Given the description of an element on the screen output the (x, y) to click on. 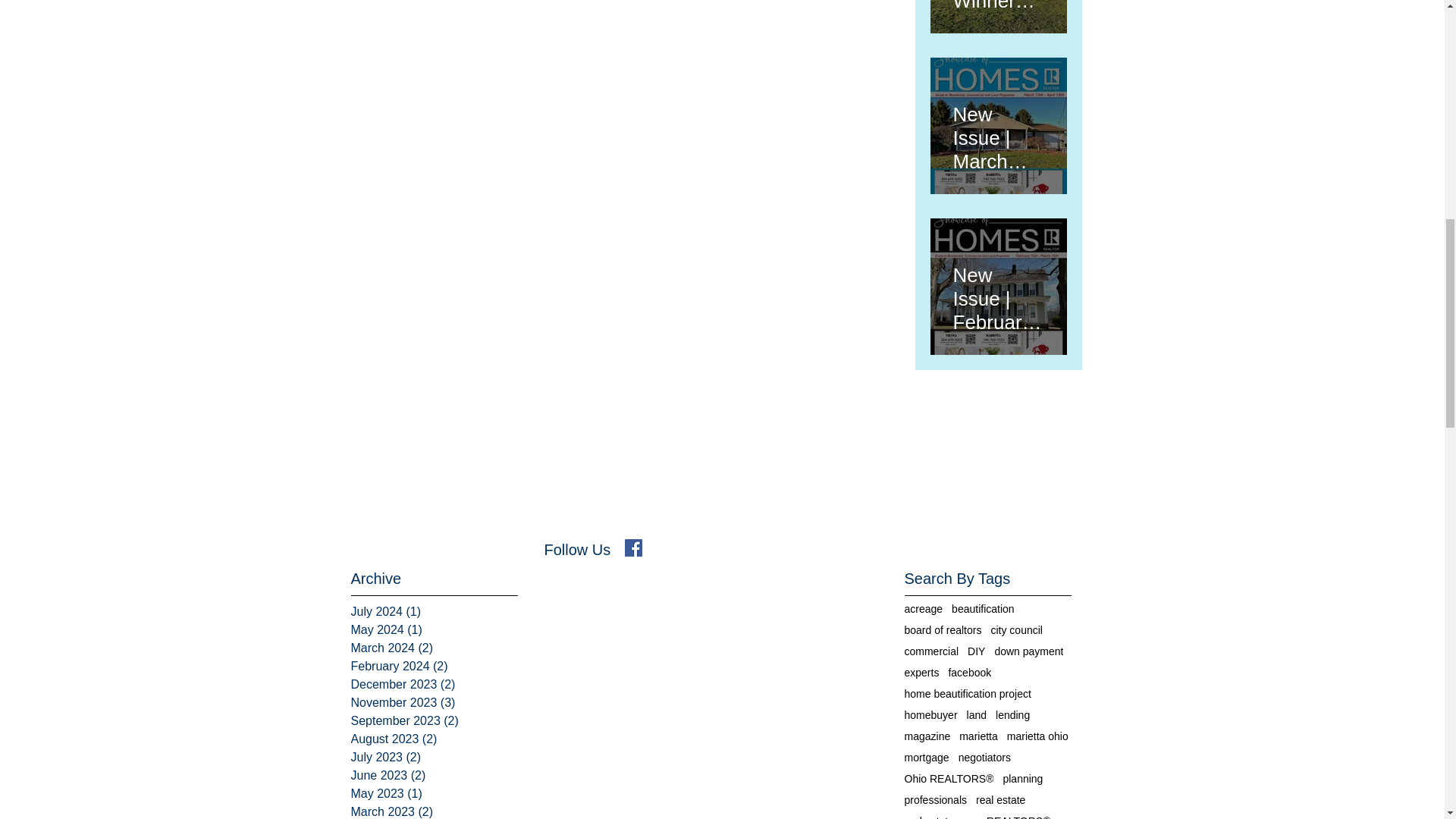
Home of the Month Winner is.... (997, 6)
